Given the description of an element on the screen output the (x, y) to click on. 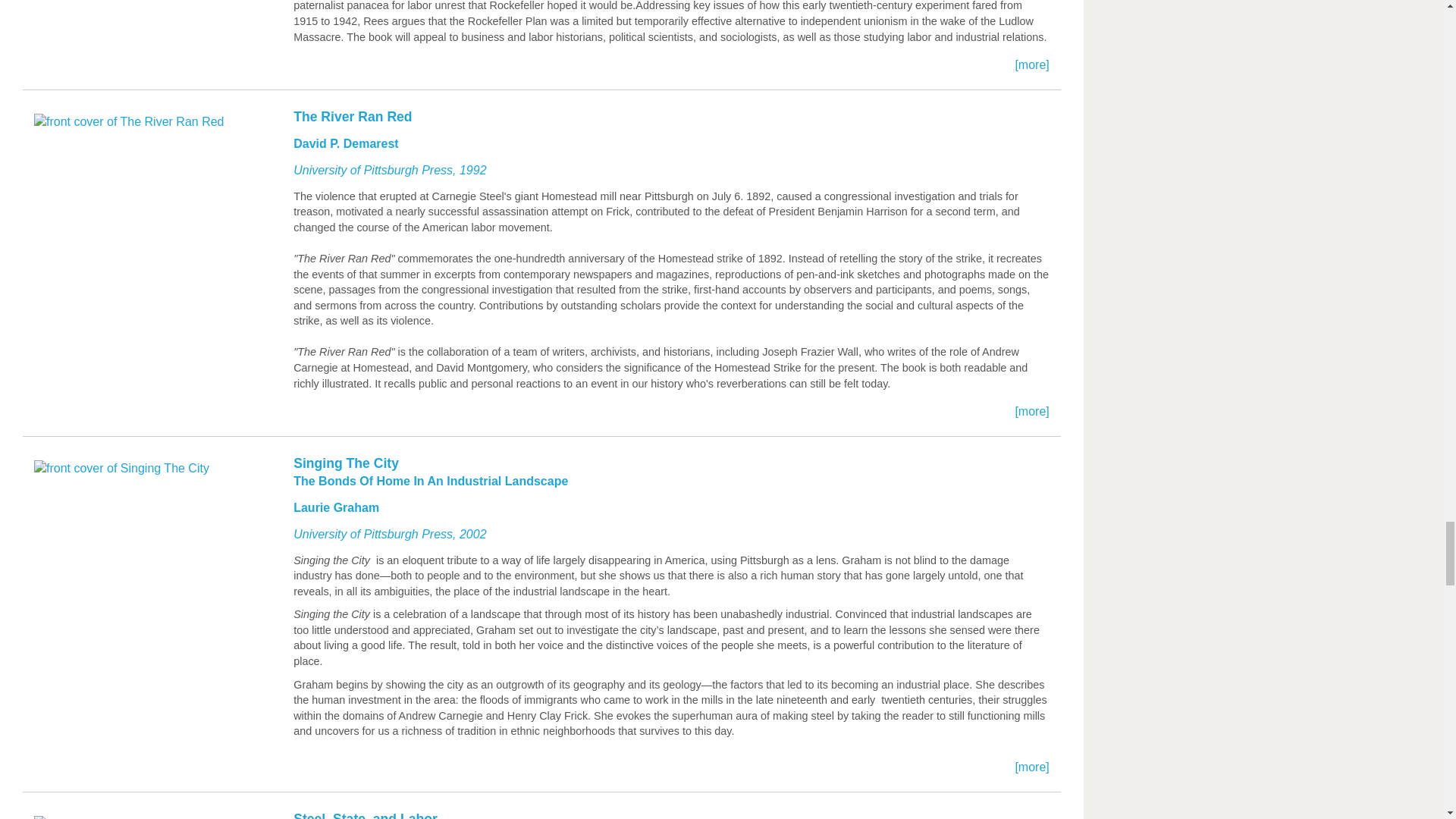
See more information about this book (541, 52)
